Given the description of an element on the screen output the (x, y) to click on. 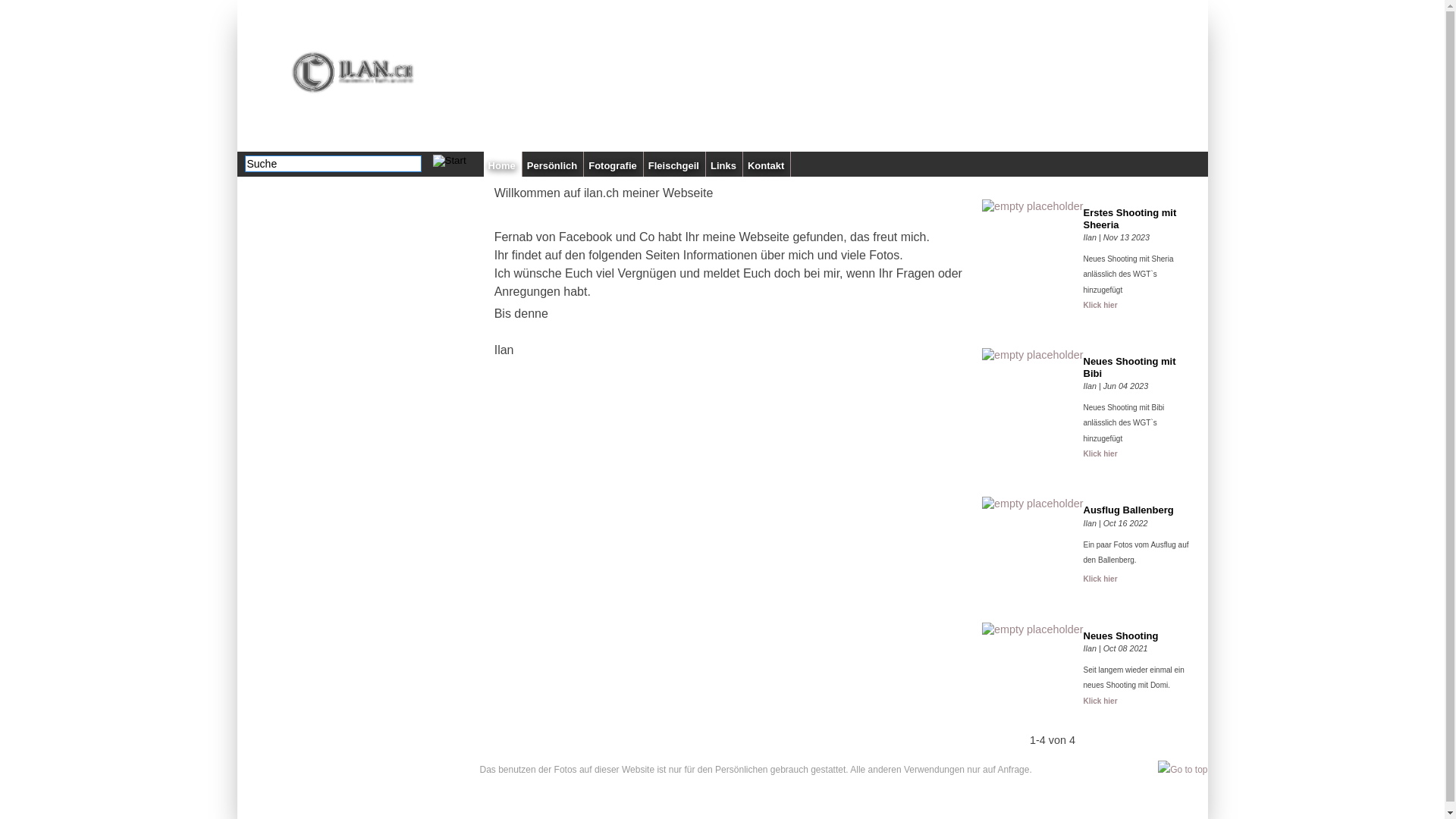
Klick hier Element type: text (1099, 305)
Klick hier Element type: text (1099, 700)
Fotografie Element type: text (613, 163)
Home Element type: text (502, 163)
Ausflug Ballenberg Element type: text (1138, 510)
Neues Shooting Element type: text (1138, 636)
Klick hier Element type: text (1099, 453)
Neues Shooting mit Bibi Element type: text (1138, 367)
Go to top Element type: hover (1182, 769)
Erstes Shooting mit Sheeria Element type: text (1138, 218)
Kontakt Element type: text (766, 163)
Links Element type: text (724, 163)
Fleischgeil Element type: text (674, 163)
Klick hier Element type: text (1099, 578)
